Given the description of an element on the screen output the (x, y) to click on. 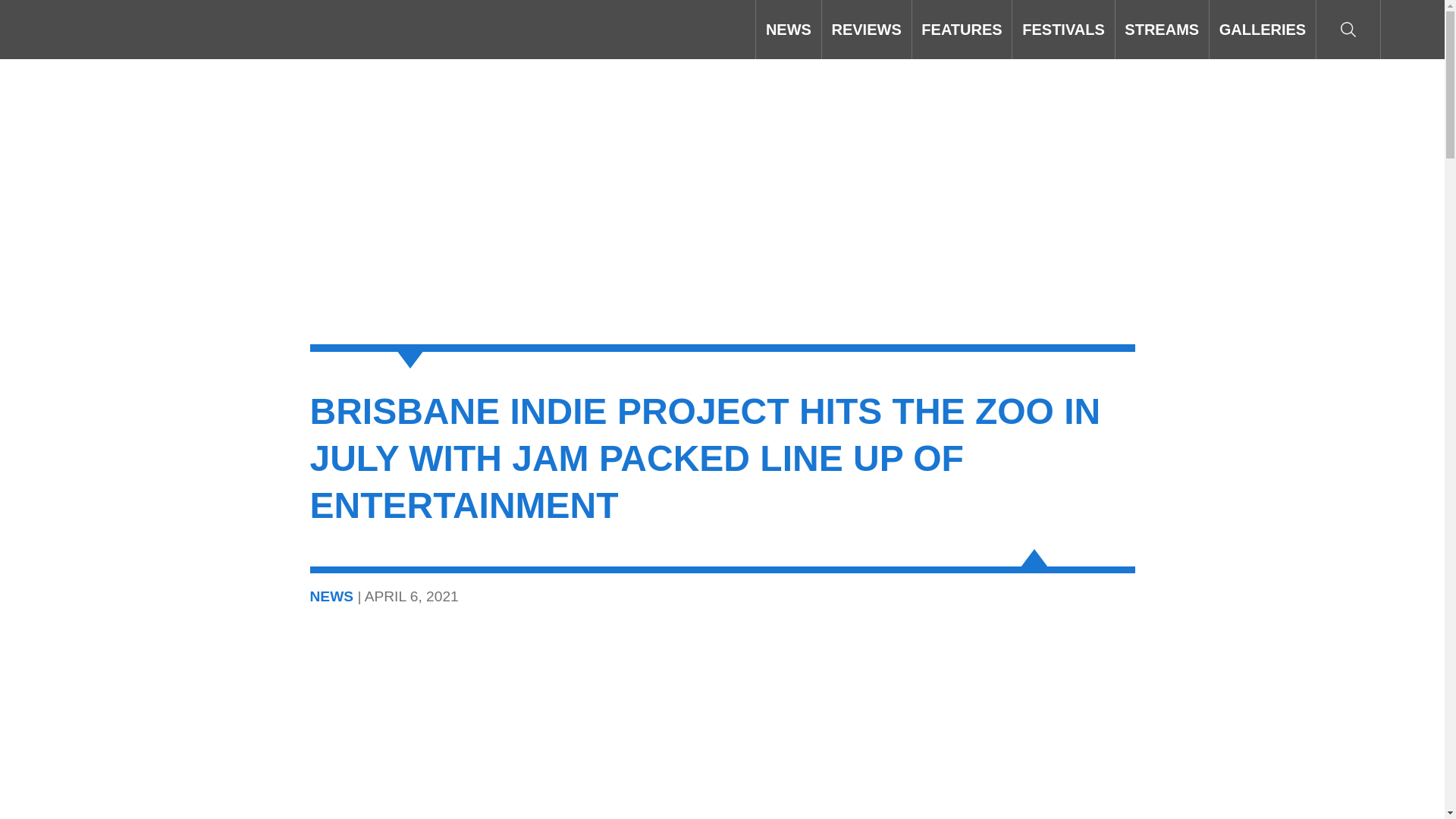
FESTIVALS (1062, 29)
GALLERIES (1262, 29)
Search (1348, 29)
STREAMS (1161, 29)
FEATURES (961, 29)
REVIEWS (866, 29)
NEWS (788, 29)
